Given the description of an element on the screen output the (x, y) to click on. 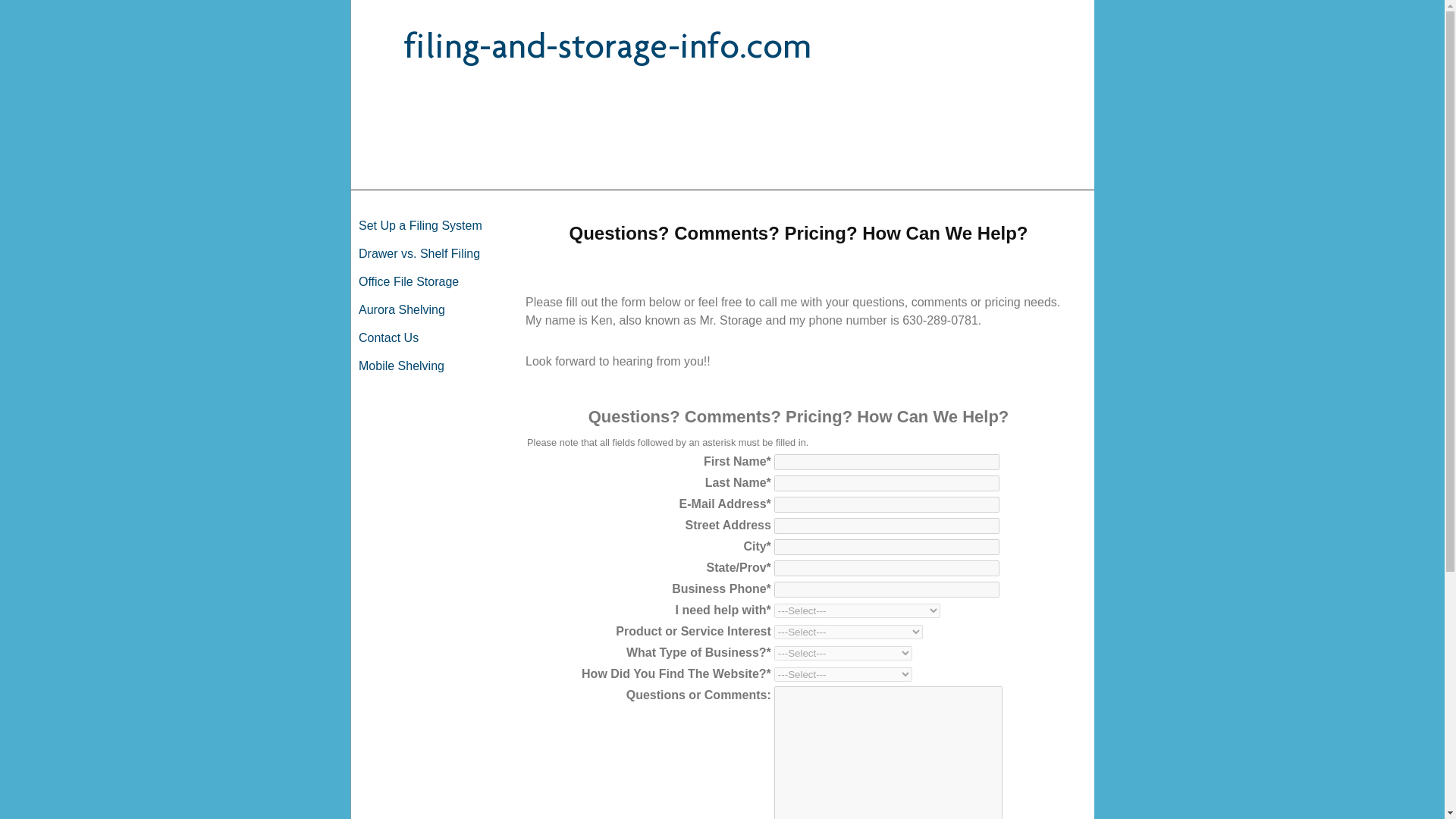
Office File Storage (426, 281)
Contact Us (426, 338)
Aurora Shelving (426, 309)
Mobile Shelving (426, 365)
Drawer vs. Shelf Filing (426, 253)
Set Up a Filing System (426, 225)
